Given the description of an element on the screen output the (x, y) to click on. 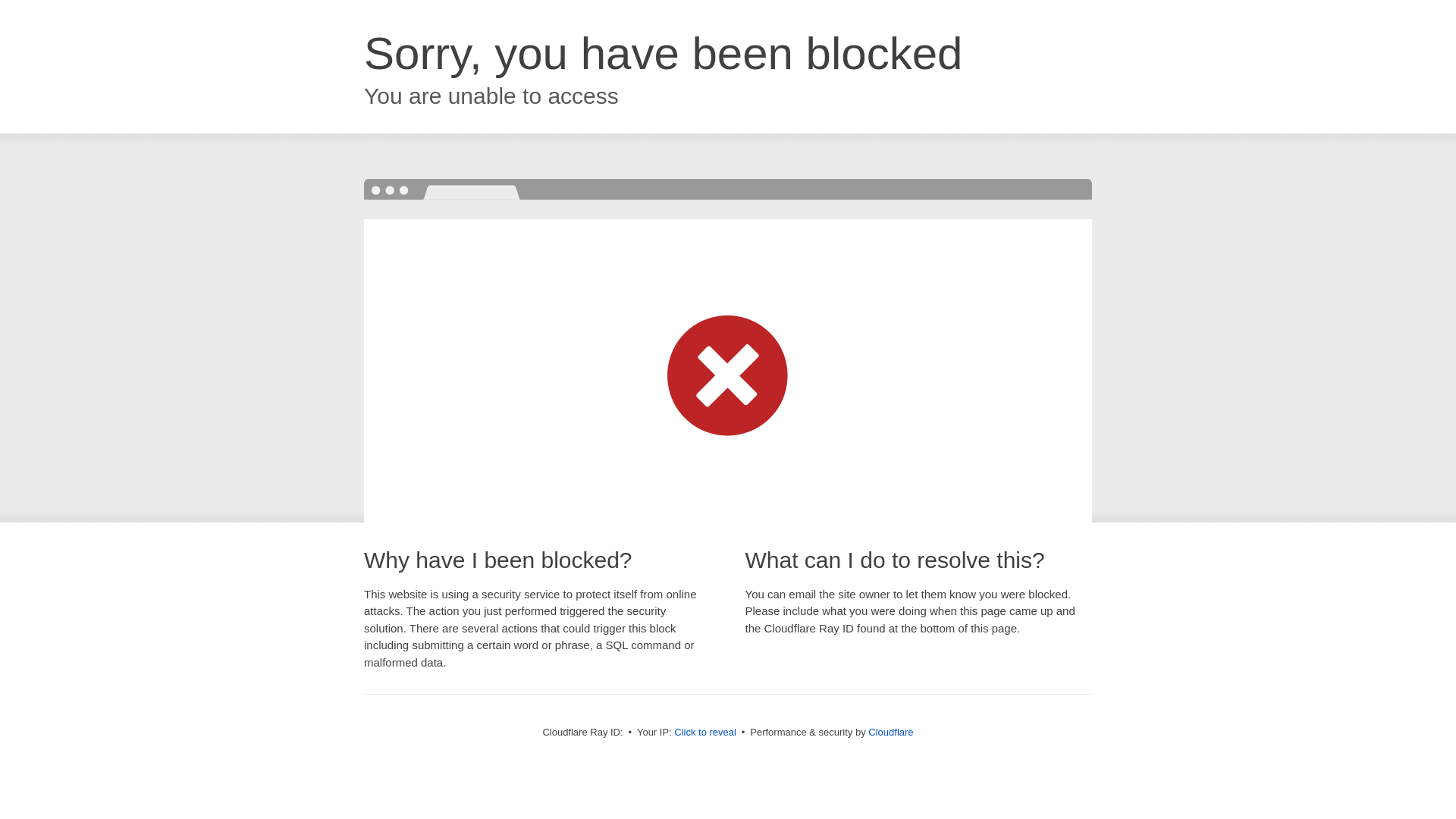
Cloudflare Element type: text (890, 731)
Click to reveal Element type: text (705, 732)
